Given the description of an element on the screen output the (x, y) to click on. 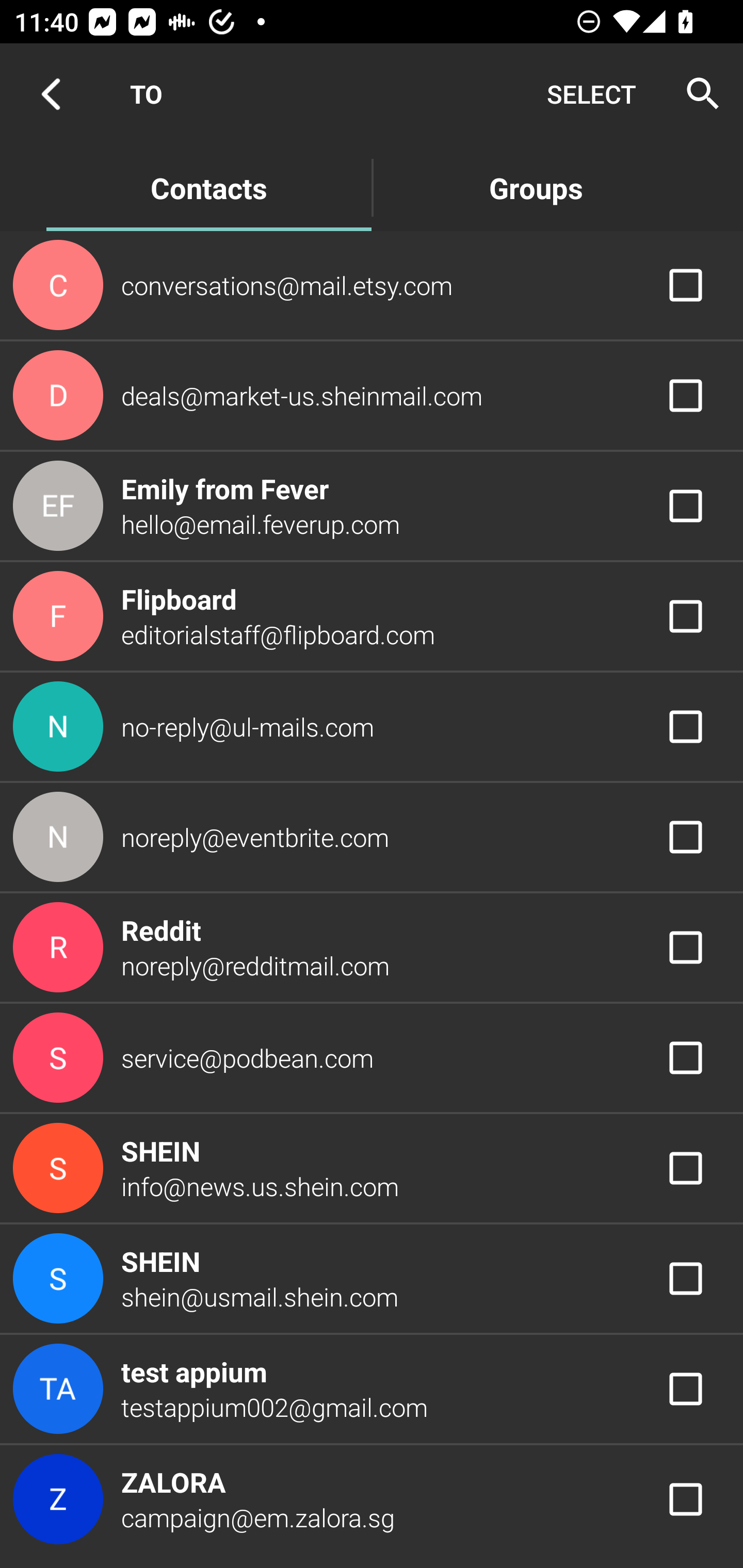
Navigate up (50, 93)
SELECT (590, 93)
Search (696, 93)
Contacts (208, 187)
Groups (535, 187)
conversations@mail.etsy.com (371, 284)
deals@market-us.sheinmail.com (371, 395)
Emily from Fever hello@email.feverup.com (371, 505)
Flipboard editorialstaff@flipboard.com (371, 616)
no-reply@ul-mails.com (371, 726)
noreply@eventbrite.com (371, 836)
Reddit noreply@redditmail.com (371, 947)
service@podbean.com (371, 1057)
SHEIN info@news.us.shein.com (371, 1168)
SHEIN shein@usmail.shein.com (371, 1278)
test appium testappium002@gmail.com (371, 1388)
ZALORA campaign@em.zalora.sg (371, 1499)
